Given the description of an element on the screen output the (x, y) to click on. 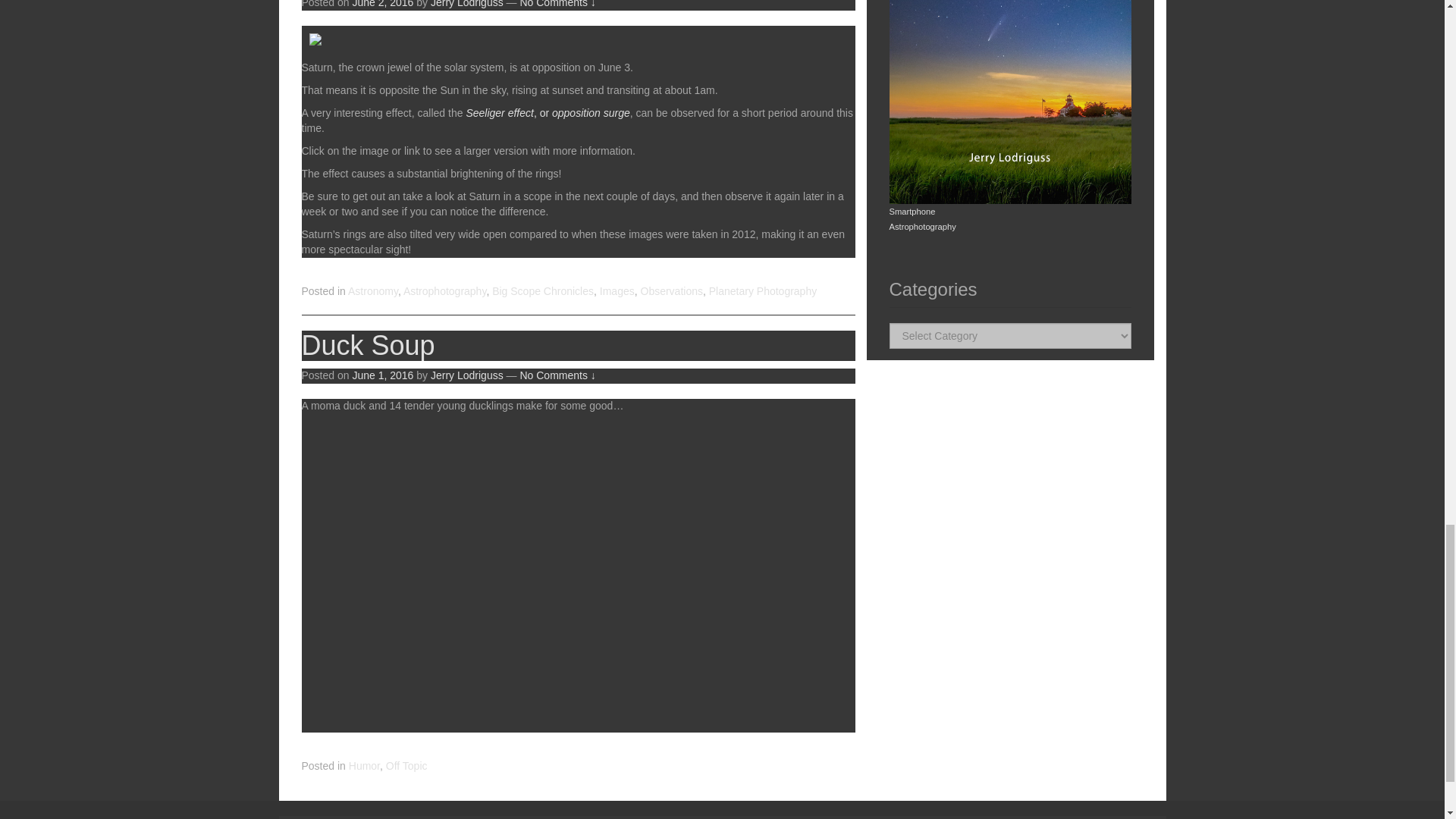
Jerry Lodriguss (466, 4)
Images (616, 291)
Big Scope Chronicles (543, 291)
June 2, 2016 (382, 4)
Planetary Photography (762, 291)
View all posts by Jerry Lodriguss (466, 4)
7:02 am (382, 375)
Observations (670, 291)
View all posts by Jerry Lodriguss (466, 375)
Duck Soup (368, 345)
Seeliger effect, or opposition surge (546, 112)
Astronomy (372, 291)
Astrophotography (444, 291)
2:27 am (382, 4)
